Given the description of an element on the screen output the (x, y) to click on. 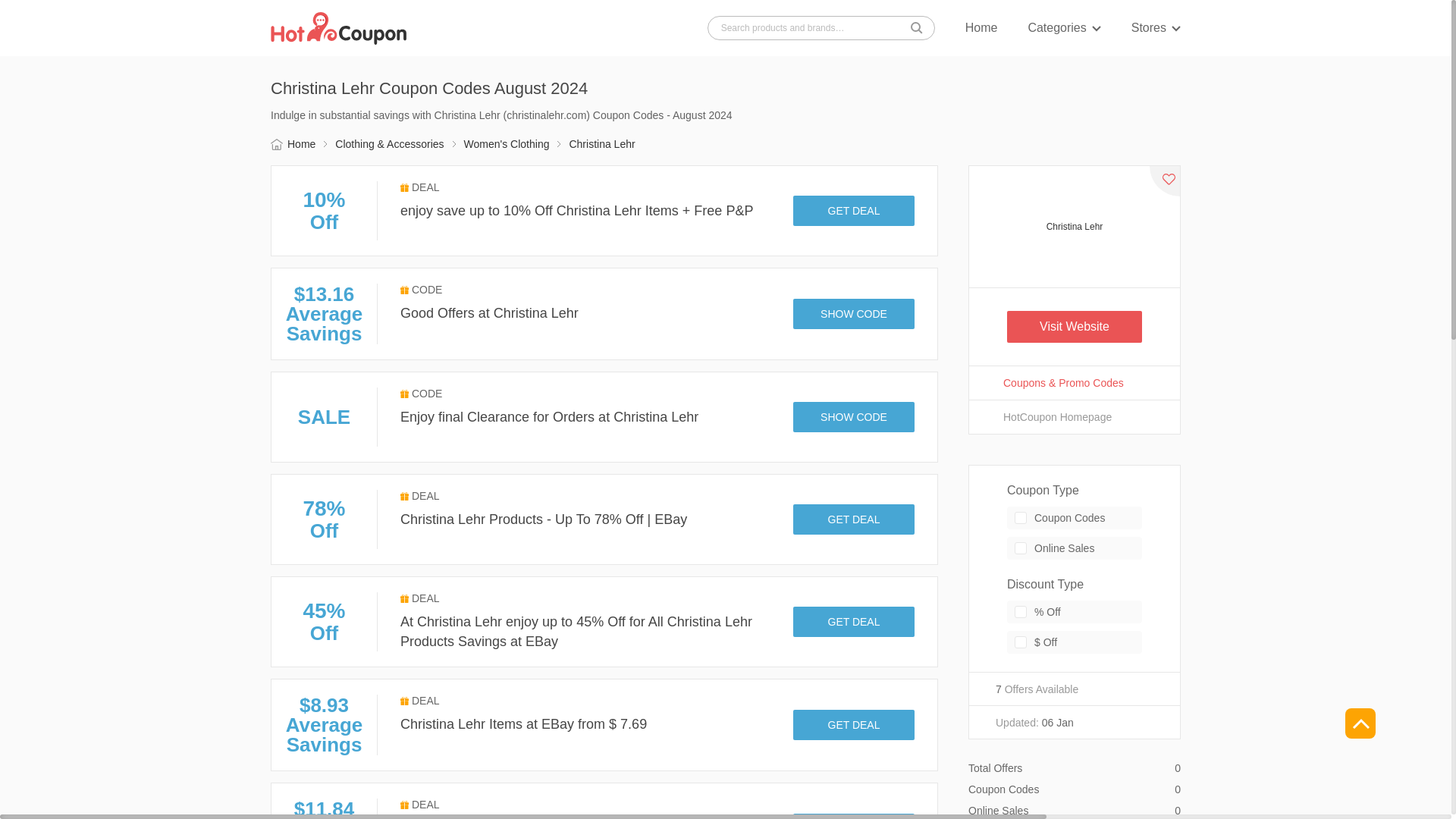
Home (981, 28)
Christina Lehr (1074, 226)
Home (292, 143)
GET DEAL (853, 621)
Enjoy final Clearance for Orders at Christina Lehr (549, 417)
SHOW CODE (853, 313)
Visit Website (1074, 327)
HotCoupon Homepage (1074, 416)
GET DEAL (853, 816)
GET DEAL (853, 519)
SHOW CODE (853, 417)
GET DEAL (853, 210)
Good Offers at Christina Lehr (489, 313)
GET DEAL (853, 725)
